Given the description of an element on the screen output the (x, y) to click on. 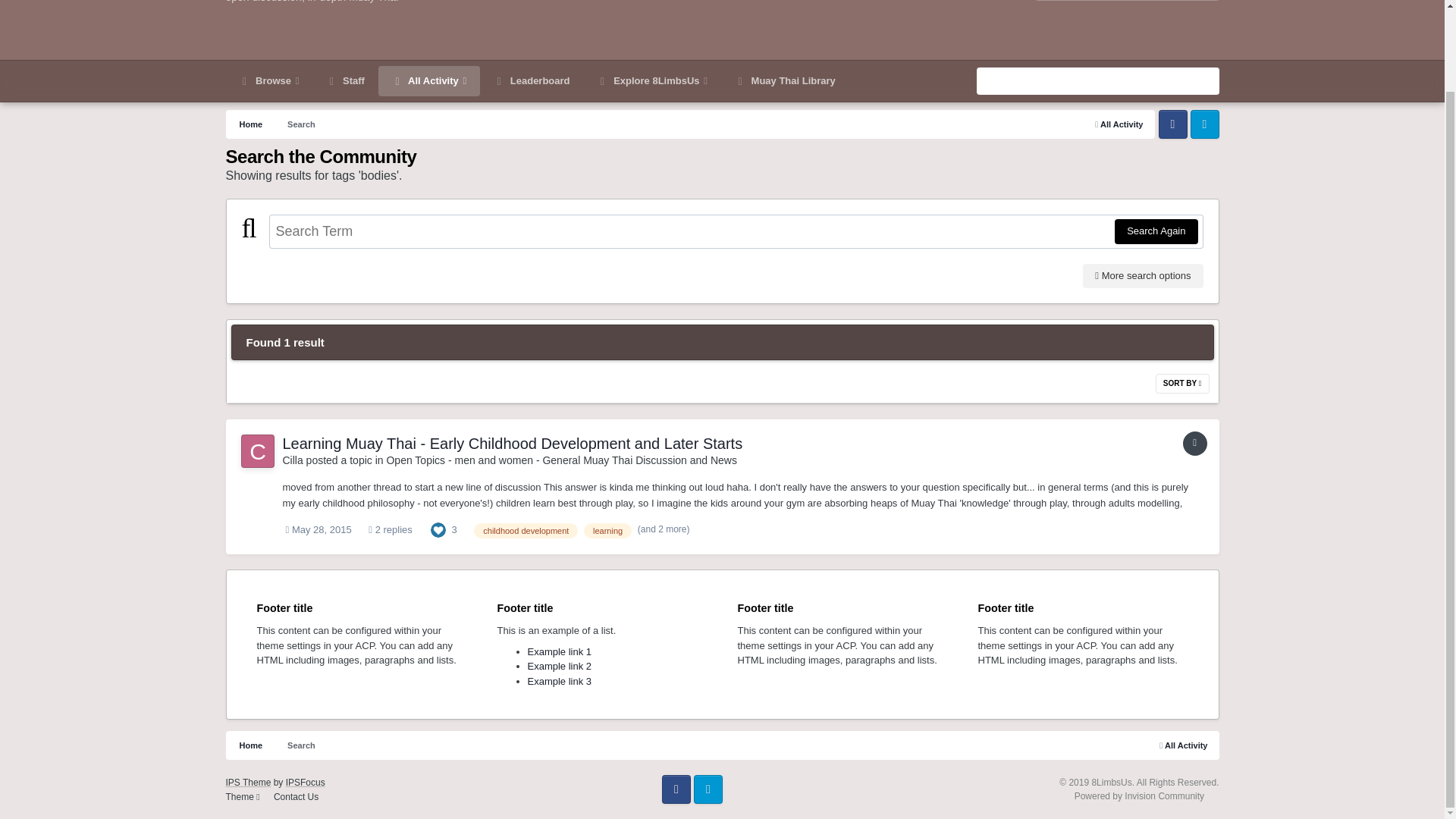
Topic (1194, 443)
Find other content tagged with 'childhood development' (526, 530)
Muay Thai Library (784, 81)
Browse (269, 81)
All Activity (429, 81)
Explore 8LimbsUs (651, 81)
Invision Community (1139, 796)
Like (437, 529)
Home (250, 123)
